Given the description of an element on the screen output the (x, y) to click on. 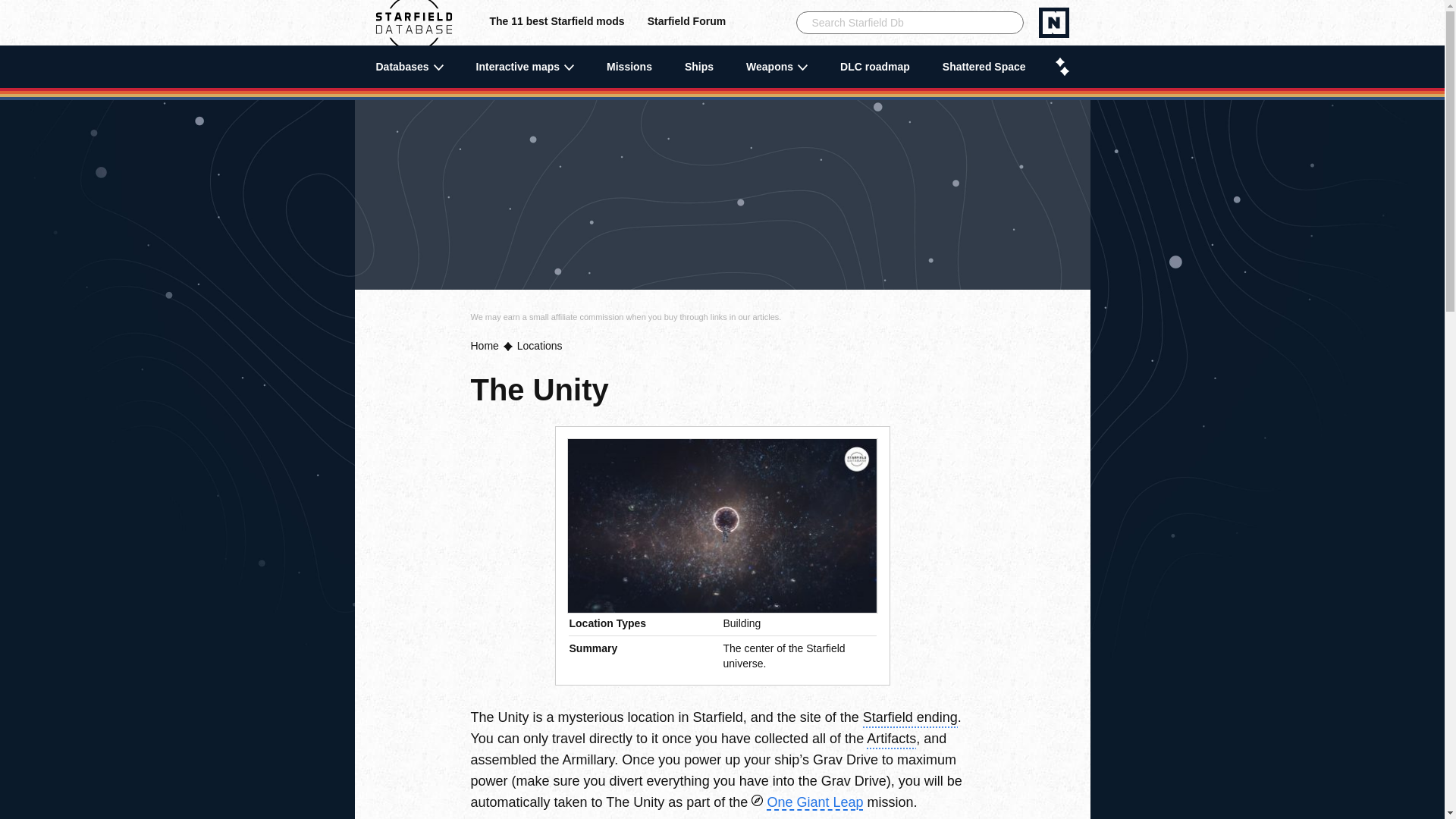
Databases (409, 66)
Interactive maps (525, 66)
Starfield Forum (686, 22)
The 11 best Starfield mods (556, 22)
Starfield mods (556, 22)
